Given the description of an element on the screen output the (x, y) to click on. 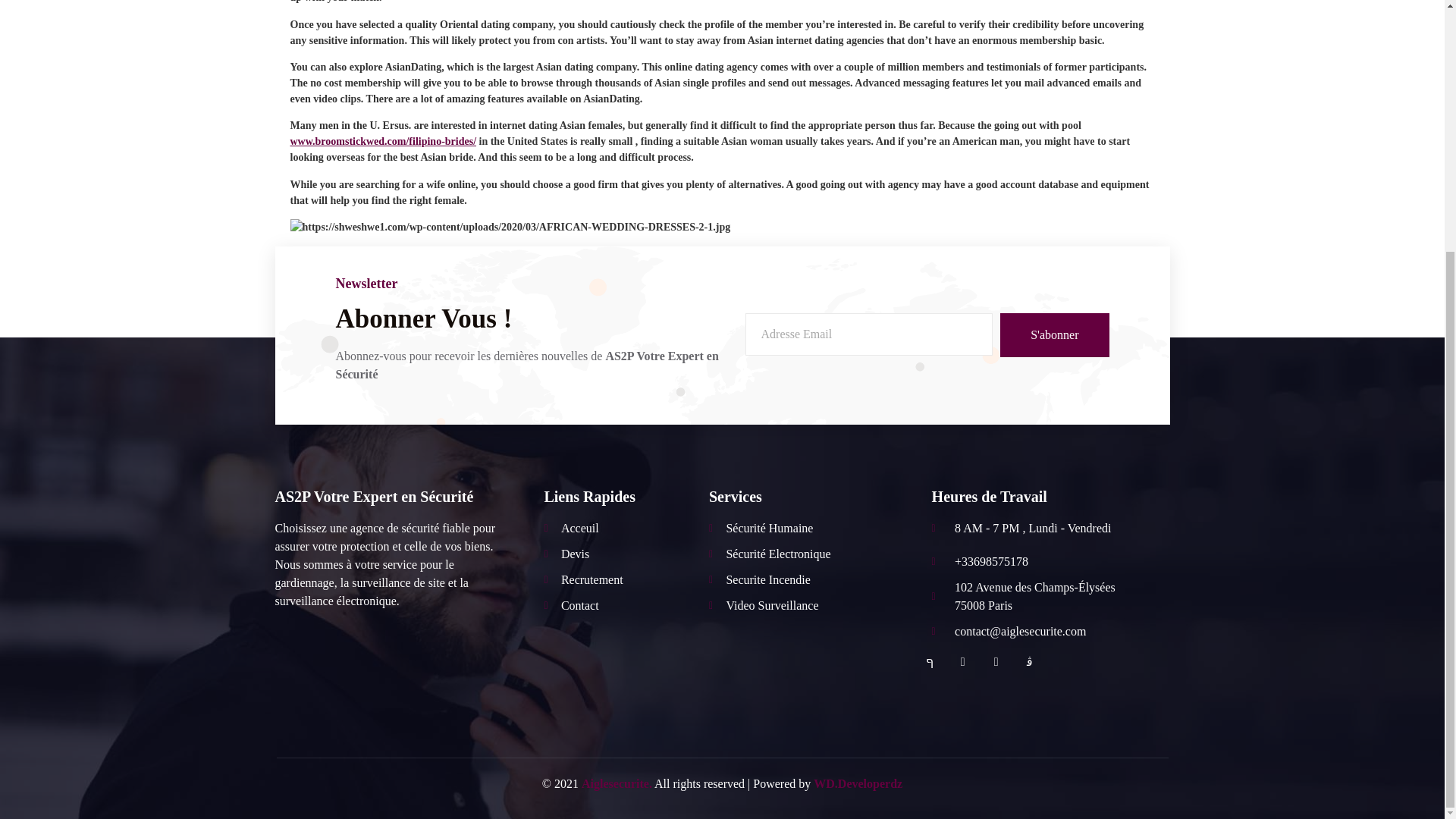
Contact (618, 606)
Securite Incendie (801, 579)
S'abonner (1054, 334)
Acceuil (618, 528)
Devis (618, 554)
Video Surveillance (801, 606)
Recrutement (618, 579)
